Given the description of an element on the screen output the (x, y) to click on. 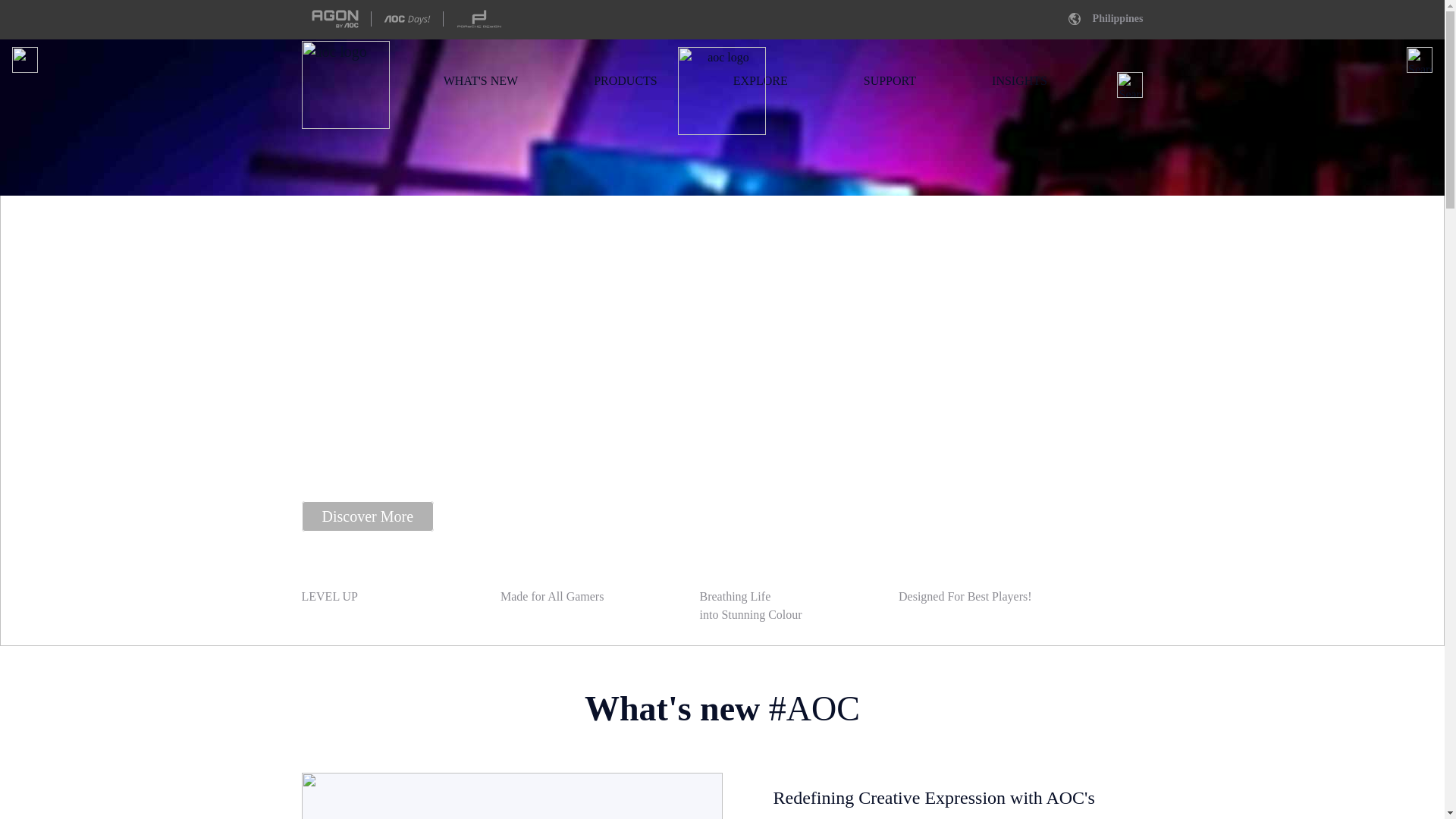
PRODUCTS (625, 80)
AOC Days (405, 17)
WHAT'S NEW (481, 80)
AOC Porsche Design (478, 17)
Philippines (1099, 18)
